Given the description of an element on the screen output the (x, y) to click on. 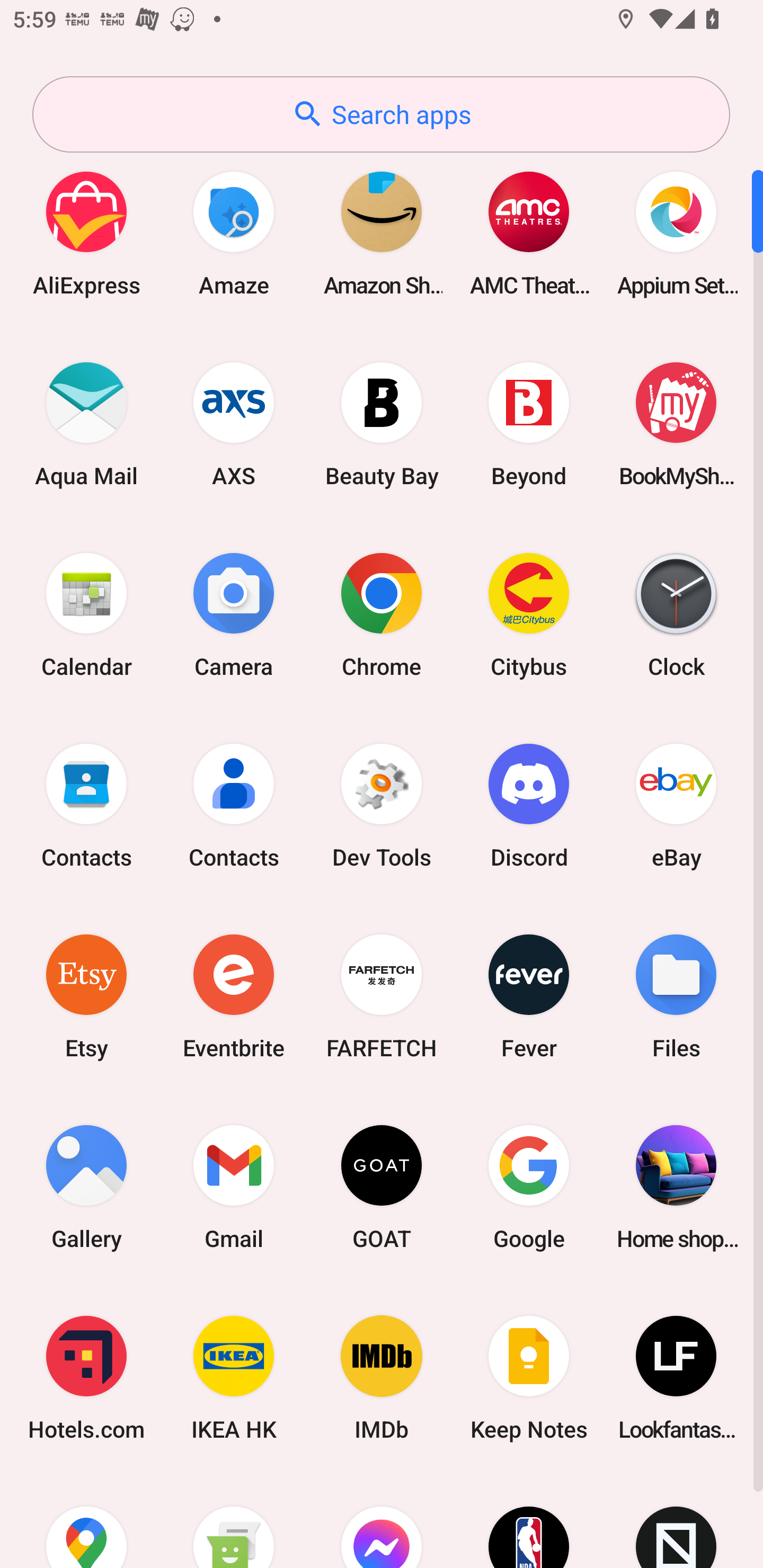
  Search apps (381, 114)
AliExpress (86, 233)
Amaze (233, 233)
Amazon Shopping (381, 233)
AMC Theatres (528, 233)
Appium Settings (676, 233)
Aqua Mail (86, 424)
AXS (233, 424)
Beauty Bay (381, 424)
Beyond (528, 424)
BookMyShow (676, 424)
Calendar (86, 614)
Camera (233, 614)
Chrome (381, 614)
Citybus (528, 614)
Clock (676, 614)
Contacts (86, 805)
Contacts (233, 805)
Dev Tools (381, 805)
Discord (528, 805)
eBay (676, 805)
Etsy (86, 996)
Eventbrite (233, 996)
FARFETCH (381, 996)
Fever (528, 996)
Files (676, 996)
Gallery (86, 1186)
Gmail (233, 1186)
GOAT (381, 1186)
Google (528, 1186)
Home shopping (676, 1186)
Hotels.com (86, 1377)
IKEA HK (233, 1377)
IMDb (381, 1377)
Keep Notes (528, 1377)
Lookfantastic (676, 1377)
Maps (86, 1520)
Messaging (233, 1520)
Messenger (381, 1520)
NBA (528, 1520)
Novelship (676, 1520)
